Given the description of an element on the screen output the (x, y) to click on. 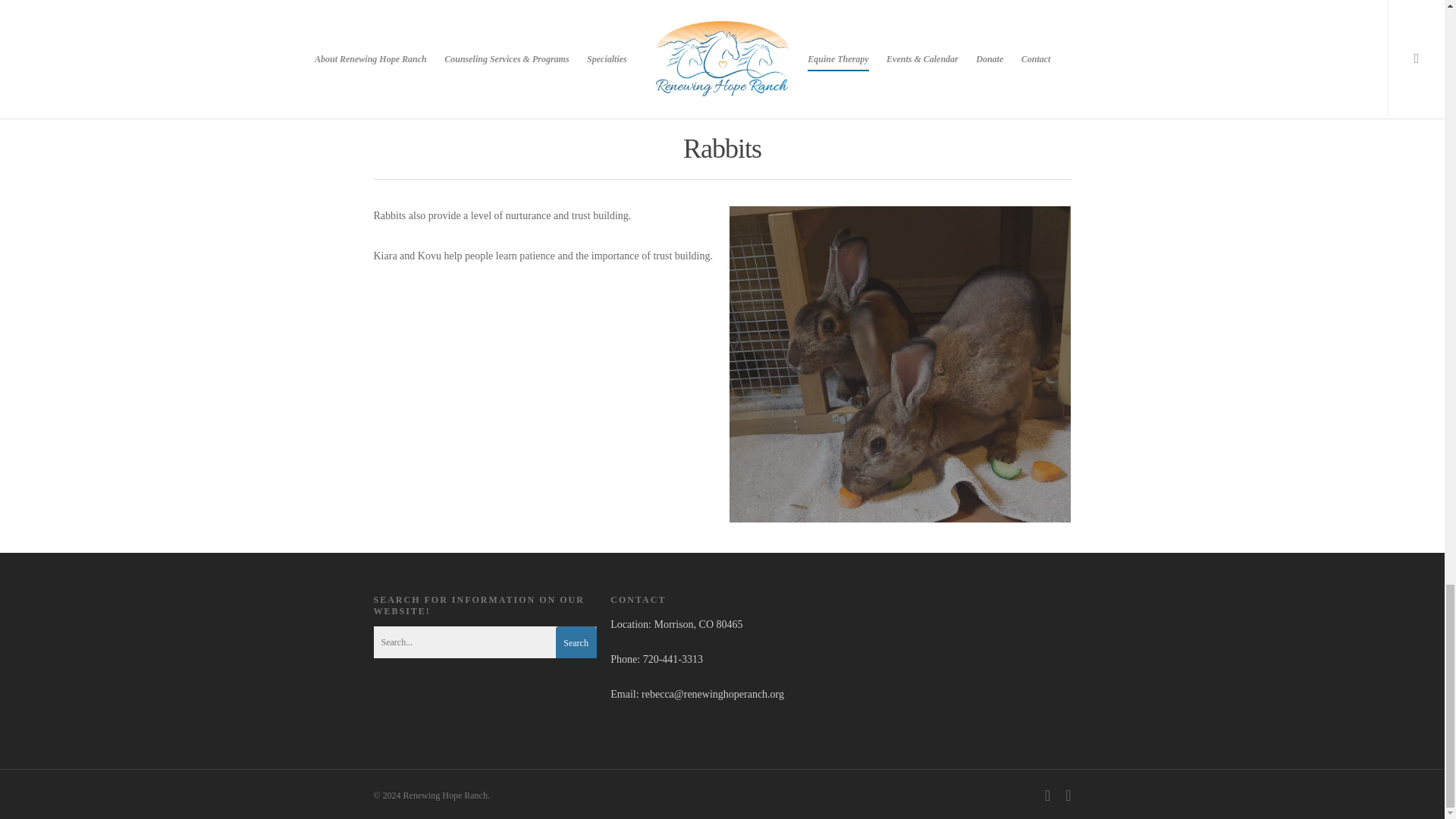
Search (576, 643)
Search for: (483, 642)
Search (576, 643)
Search (576, 643)
